Given the description of an element on the screen output the (x, y) to click on. 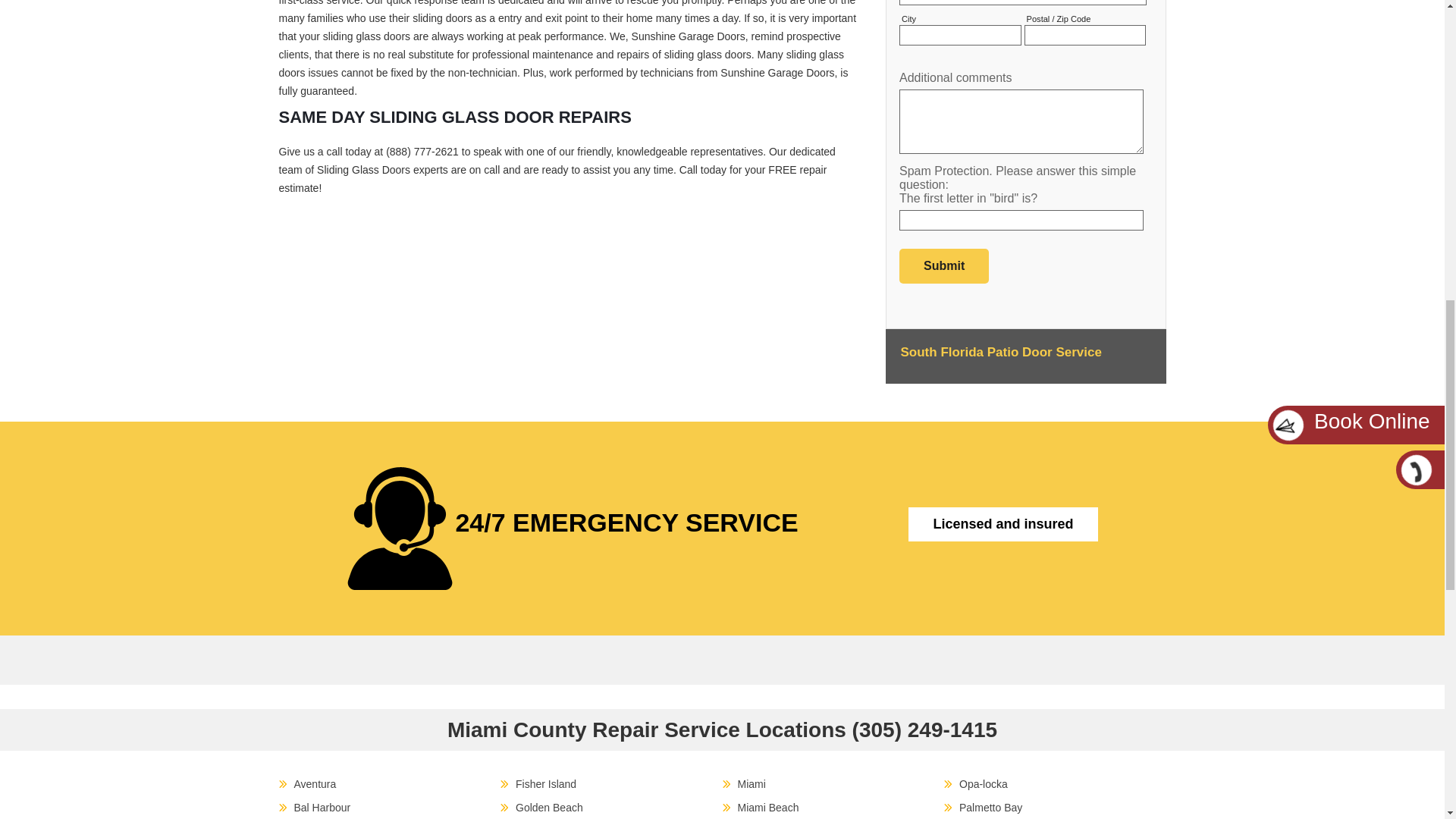
embedded form (1024, 145)
